Given the description of an element on the screen output the (x, y) to click on. 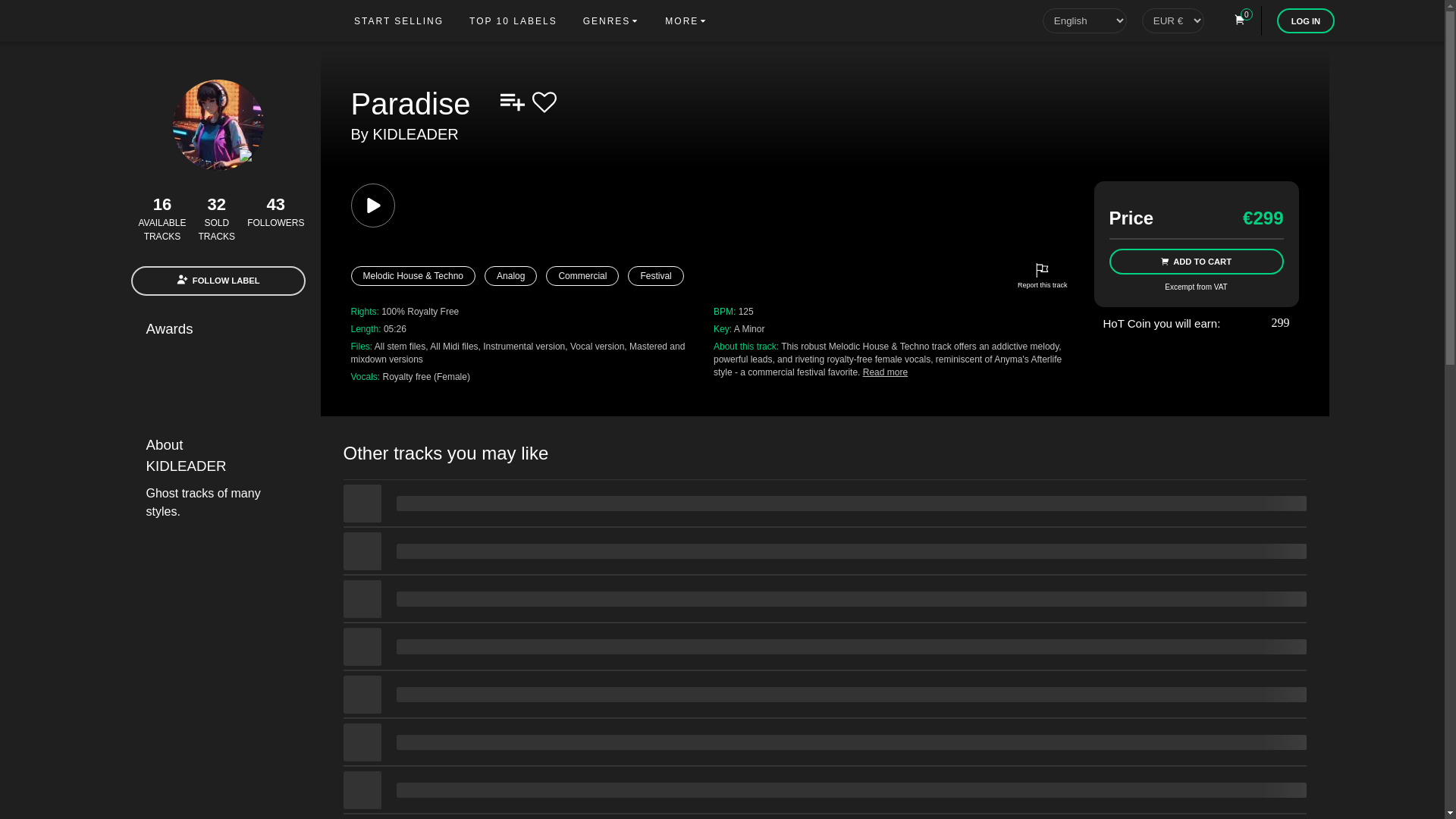
FOLLOW LABEL (217, 280)
ADD TO CART (1195, 261)
Report this track (1042, 275)
Has been in the spotlight (229, 362)
Save HoT Coin to earn discounts (1269, 323)
Is a verified House of Tracks seller (195, 362)
TOP 10 LABELS (513, 20)
Home Page (228, 20)
Has received a HoT Pick for a track (263, 362)
START SELLING (398, 20)
